Given the description of an element on the screen output the (x, y) to click on. 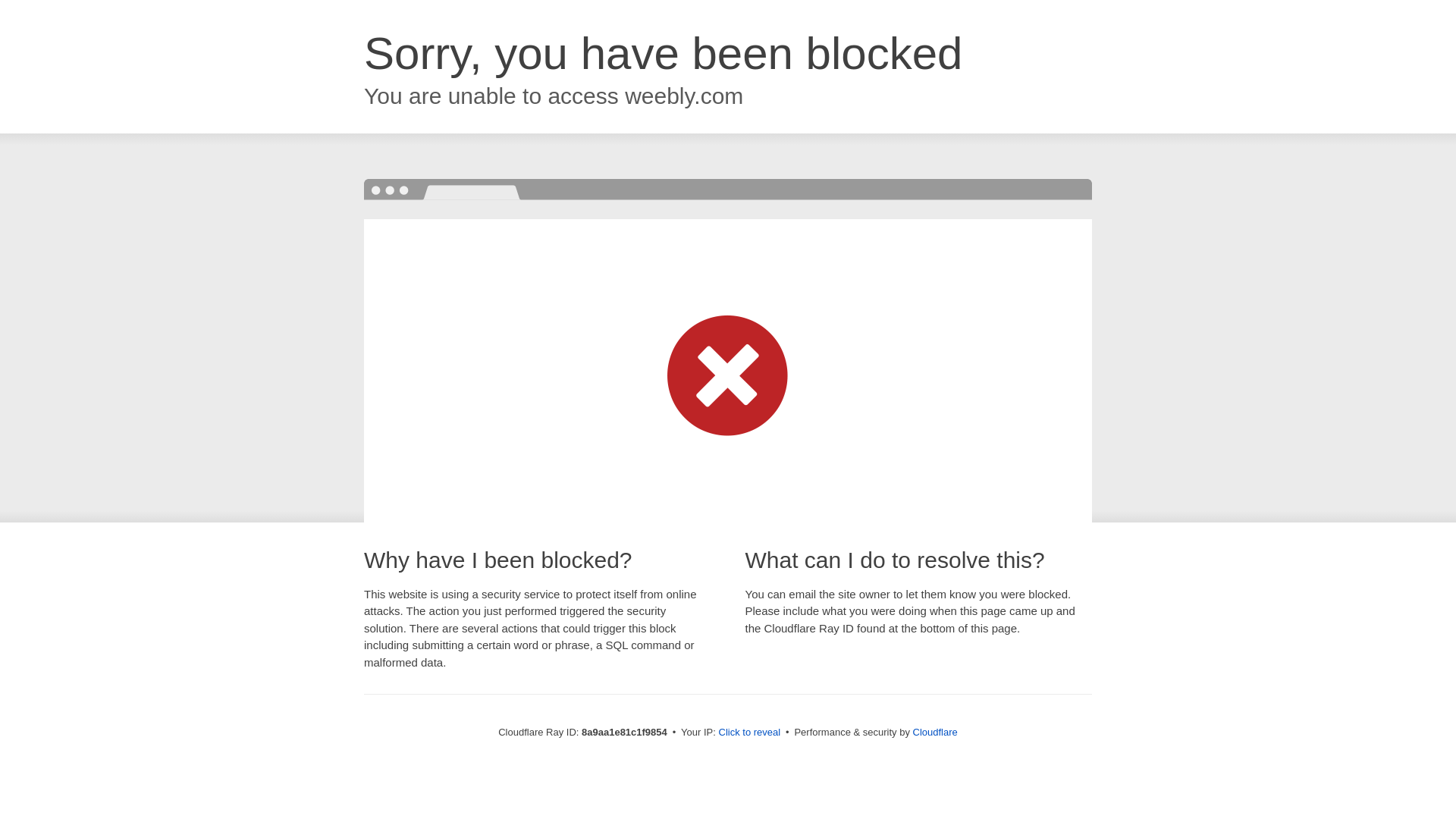
Click to reveal (749, 732)
Cloudflare (935, 731)
